Given the description of an element on the screen output the (x, y) to click on. 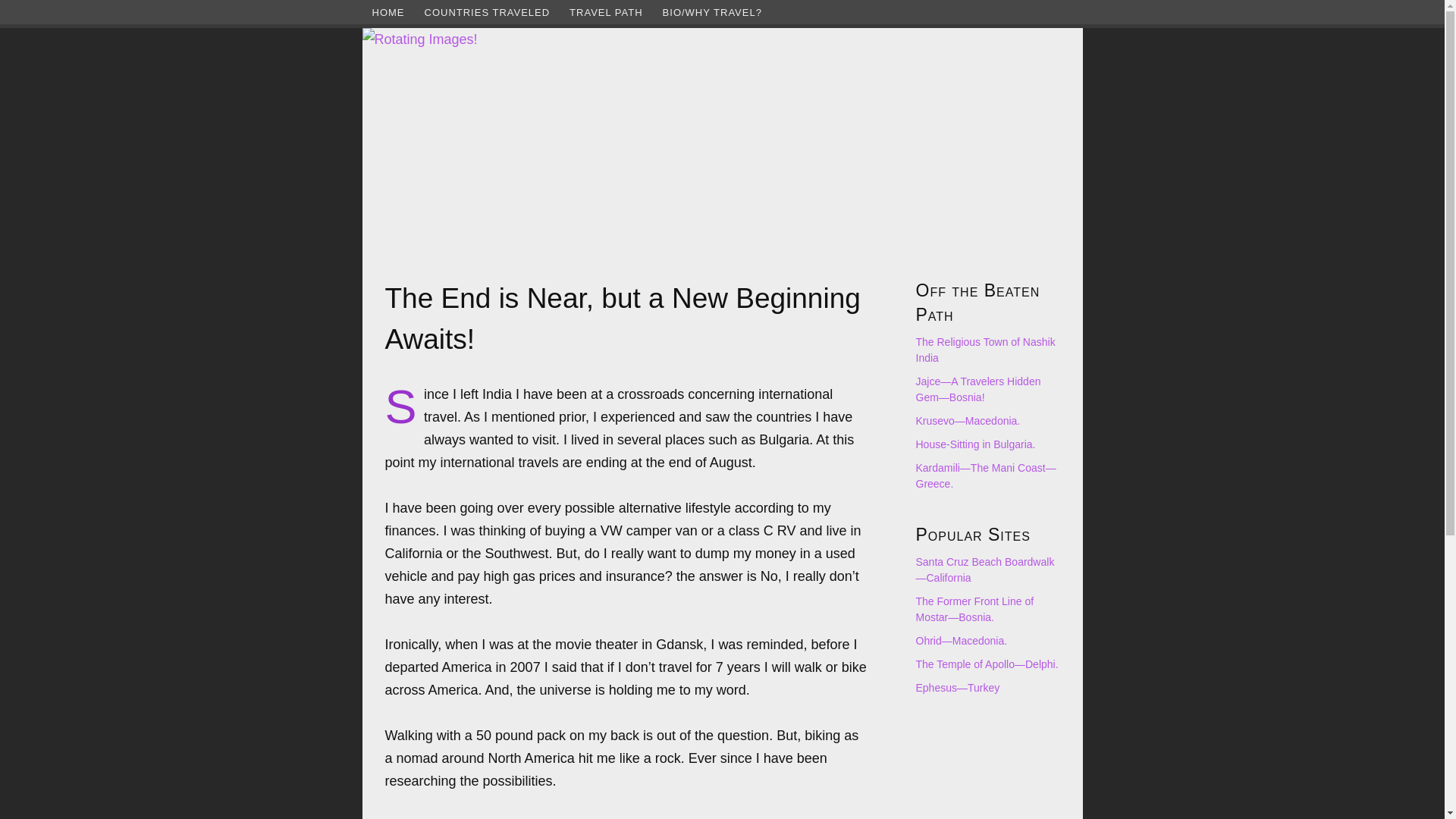
The Religious Town of Nashik India (985, 349)
HOME (388, 12)
Read The Religious Town of Nashik India (985, 349)
COUNTRIES TRAVELED (486, 12)
TRAVEL PATH (605, 12)
Read House-Sitting in Bulgaria. (975, 444)
House-Sitting in Bulgaria. (975, 444)
